Given the description of an element on the screen output the (x, y) to click on. 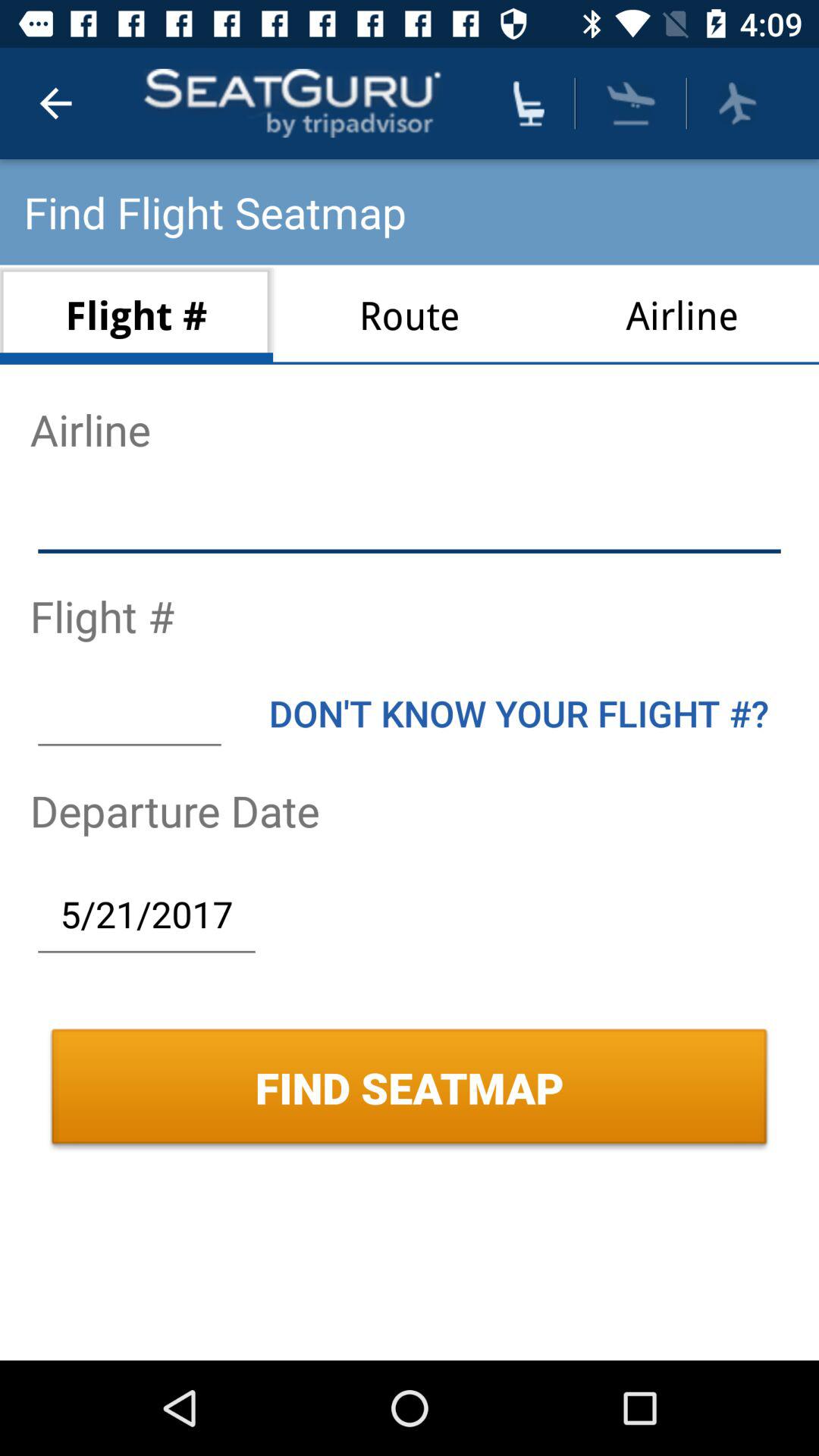
scroll until the don t know (518, 712)
